Given the description of an element on the screen output the (x, y) to click on. 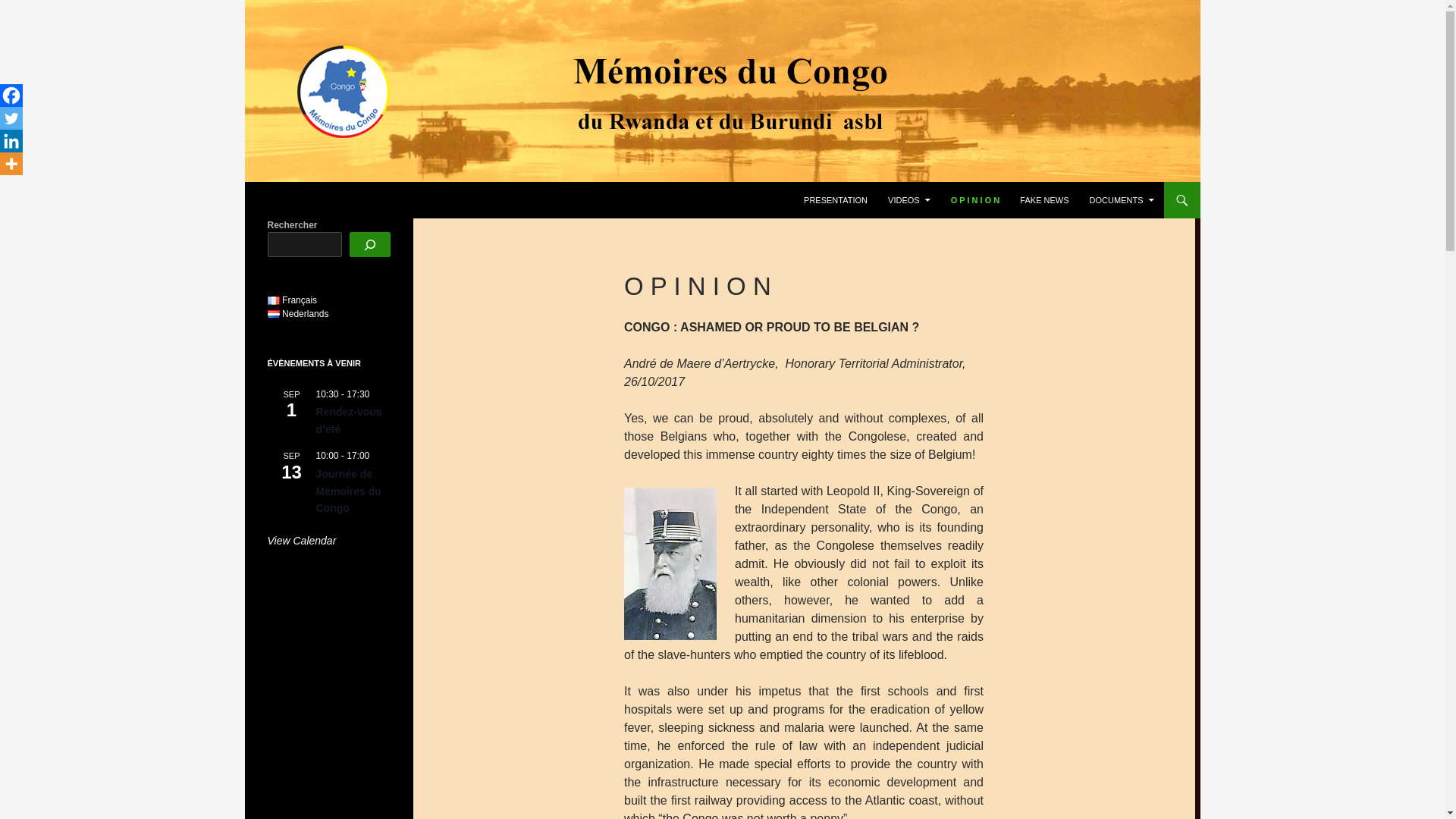
Nederlands (297, 313)
View more events. (301, 540)
FAKE NEWS (1043, 199)
VIDEOS (909, 199)
Facebook (11, 95)
DOCUMENTS (1121, 199)
PRESENTATION (835, 199)
Twitter (11, 118)
More (11, 163)
Linkedin (11, 140)
O P I N I O N (975, 199)
View Calendar (301, 540)
